Given the description of an element on the screen output the (x, y) to click on. 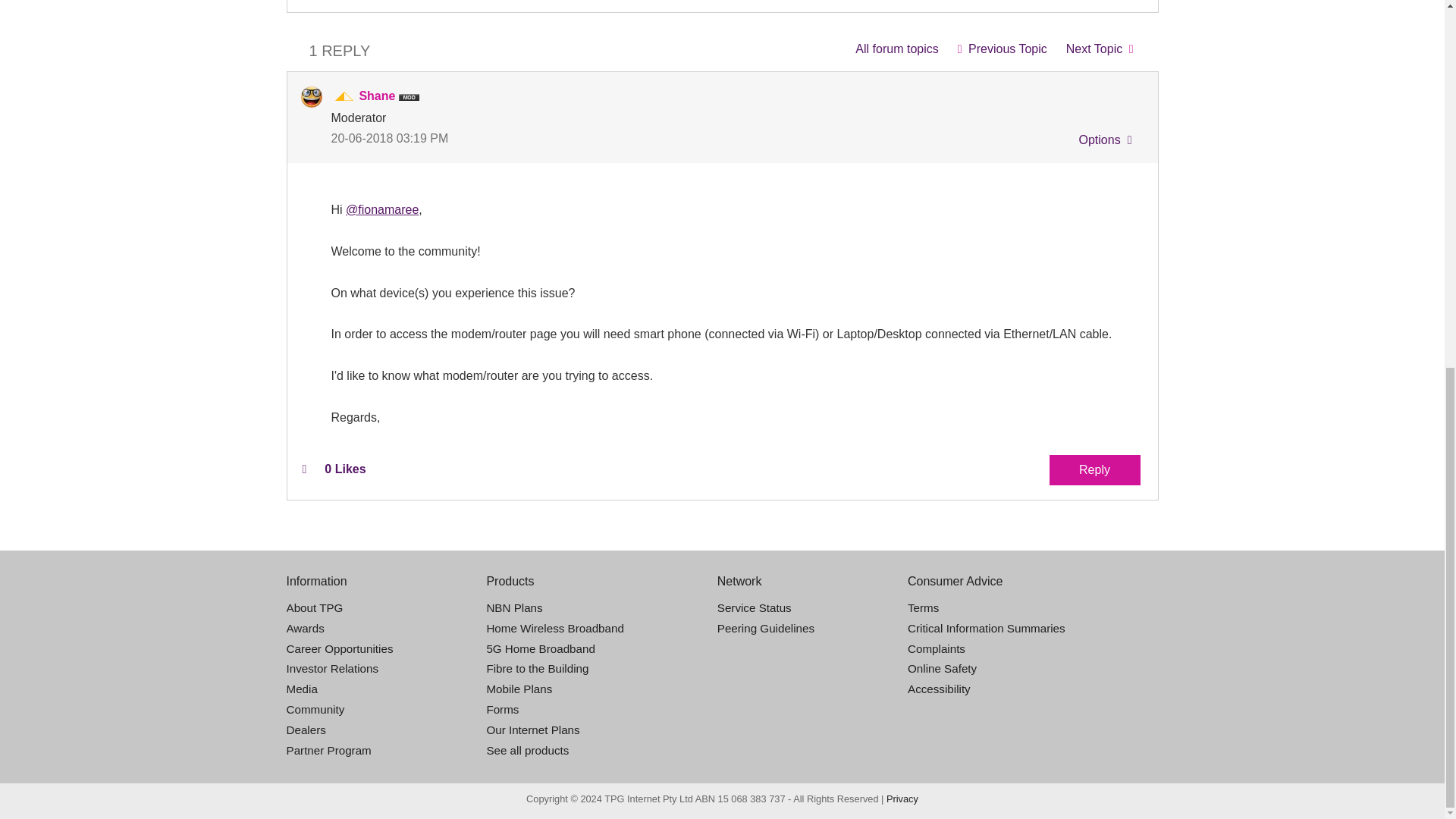
Modems and Devices (896, 48)
Shane (310, 96)
Moderator (344, 97)
